Given the description of an element on the screen output the (x, y) to click on. 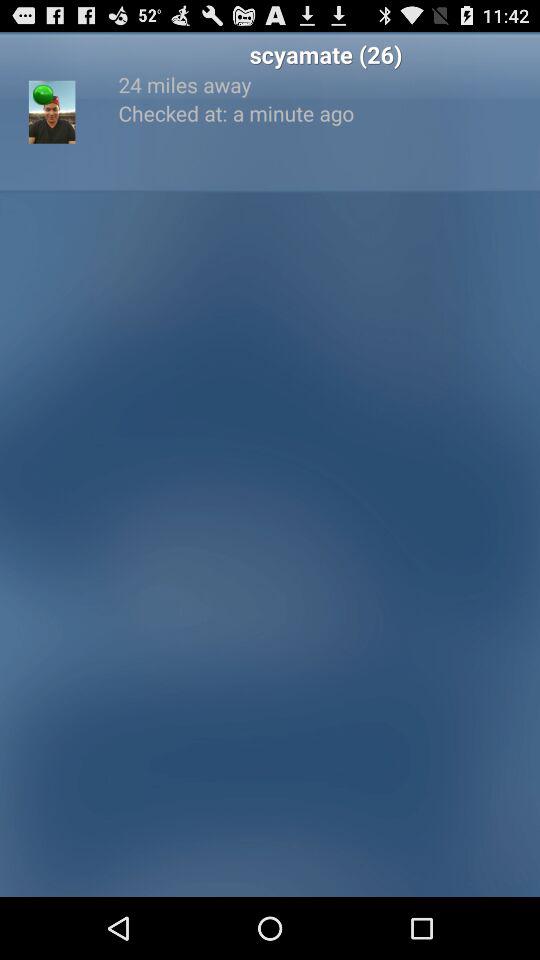
jump to scyamate (26) item (325, 54)
